Given the description of an element on the screen output the (x, y) to click on. 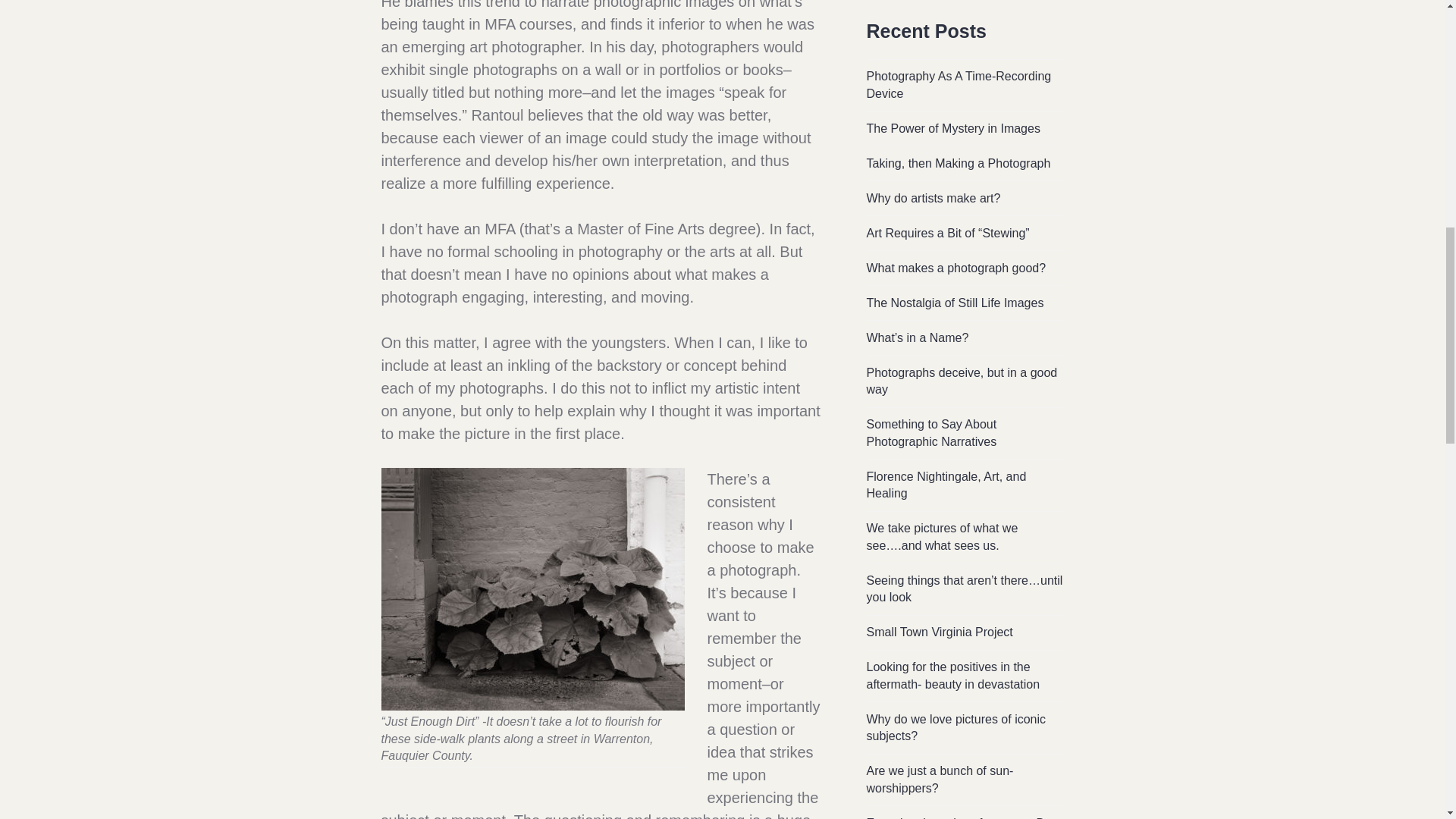
Taking, then Making a Photograph (957, 163)
Photography As A Time-Recording Device (958, 84)
Why do artists make art? (933, 197)
The Power of Mystery in Images (952, 128)
Photographs deceive, but in a good way (961, 381)
Florence Nightingale, Art, and Healing (946, 485)
What makes a photograph good? (955, 267)
The Nostalgia of Still Life Images (954, 302)
Something to Say About Photographic Narratives (930, 432)
